Given the description of an element on the screen output the (x, y) to click on. 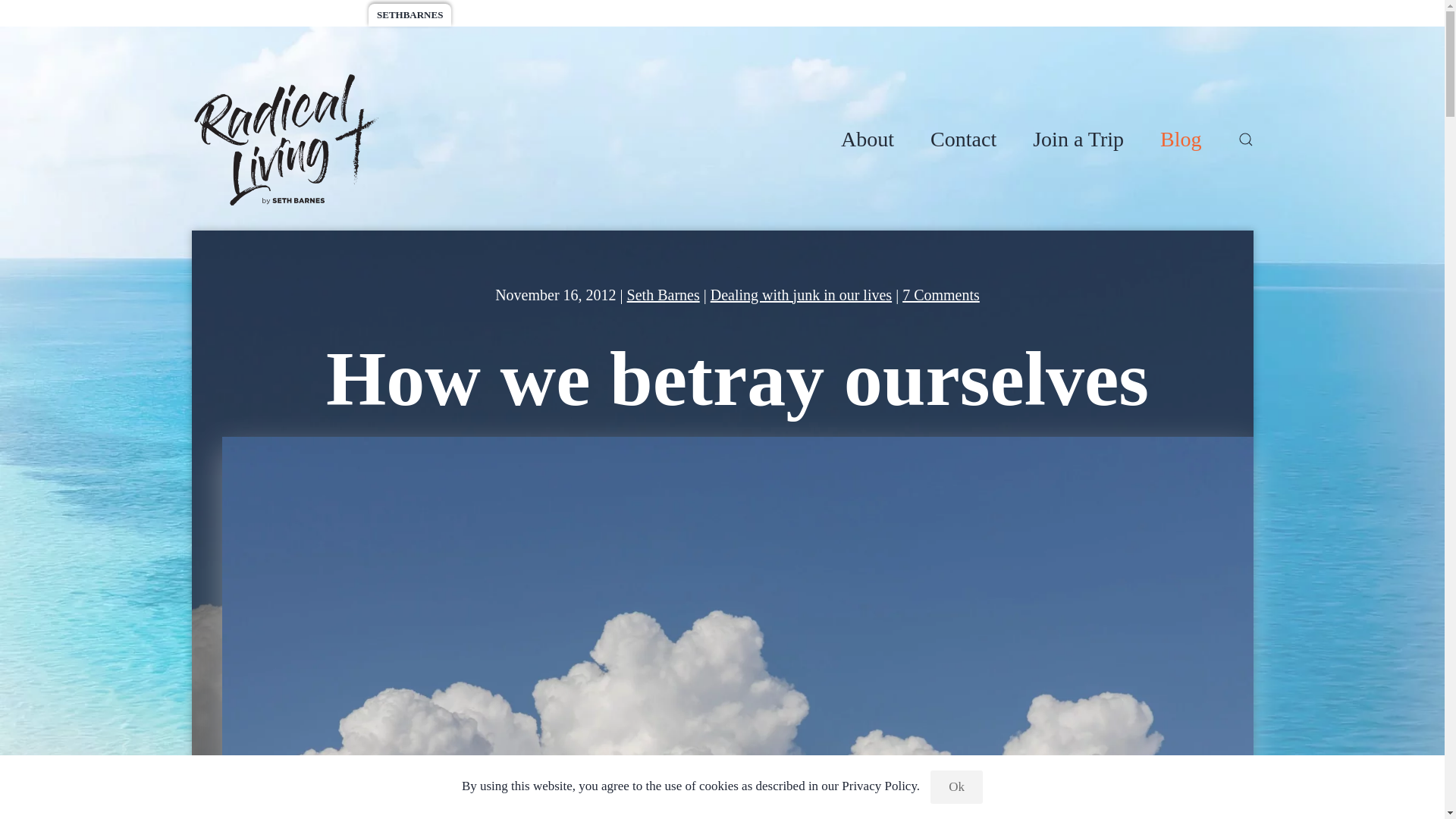
ADVENTURES (235, 15)
Dealing with junk in our lives (800, 294)
WORLDRACE (322, 15)
Contact (962, 139)
SETHBARNES (409, 15)
Blog (1180, 139)
Seth Barnes (940, 294)
How we betray ourselves 1 (663, 294)
About (498, 15)
Join a Trip (867, 139)
GIVING (1078, 139)
